Given the description of an element on the screen output the (x, y) to click on. 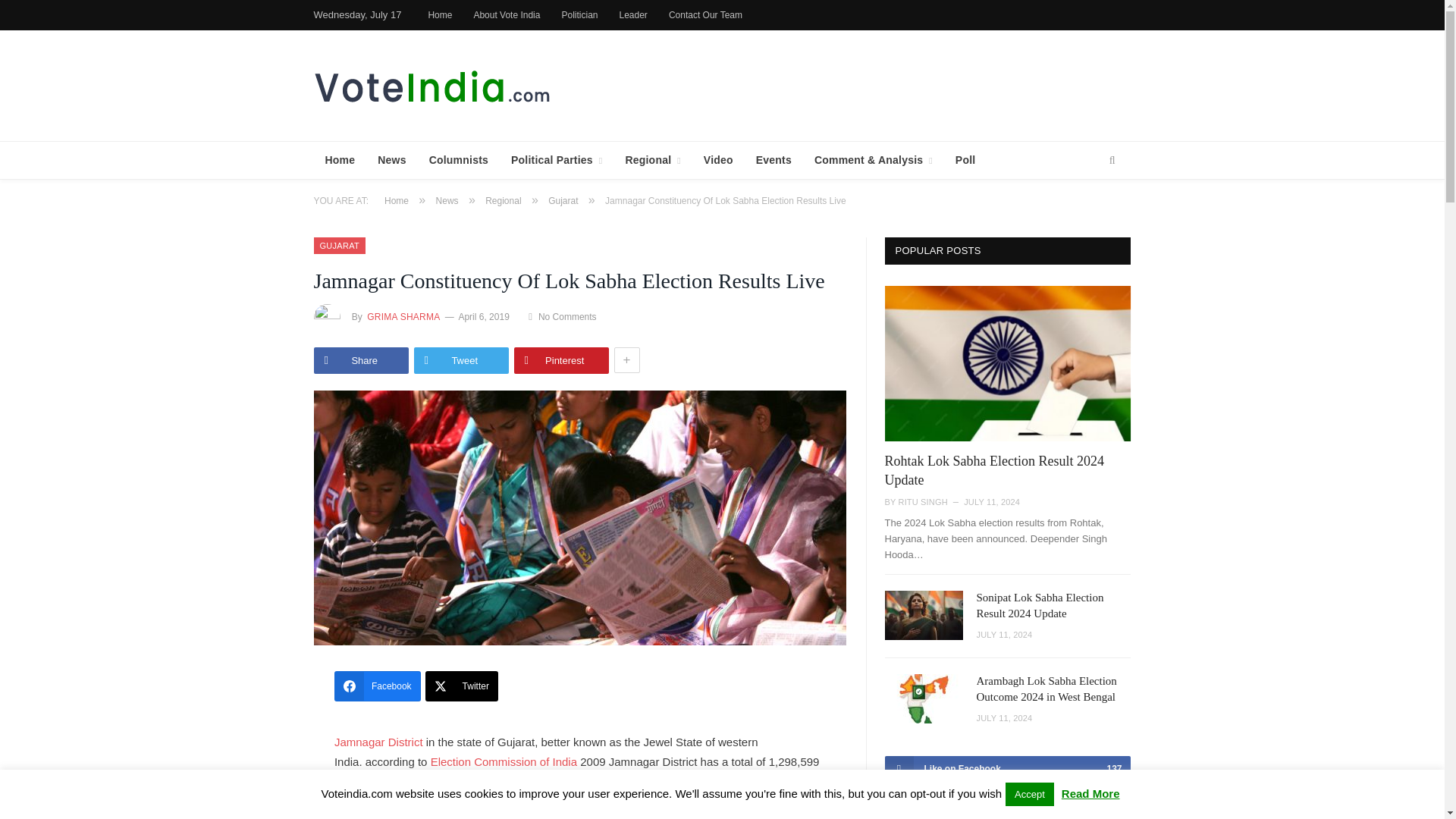
About Vote India (506, 14)
Gujarat (339, 245)
Search (1112, 160)
Posts by Grima Sharma (402, 317)
Home (340, 160)
Home (439, 14)
Leader (632, 14)
Contact Our Team (705, 14)
Vote India (434, 84)
News (391, 160)
Politician (578, 14)
Columnists (458, 160)
Regional (651, 160)
